Given the description of an element on the screen output the (x, y) to click on. 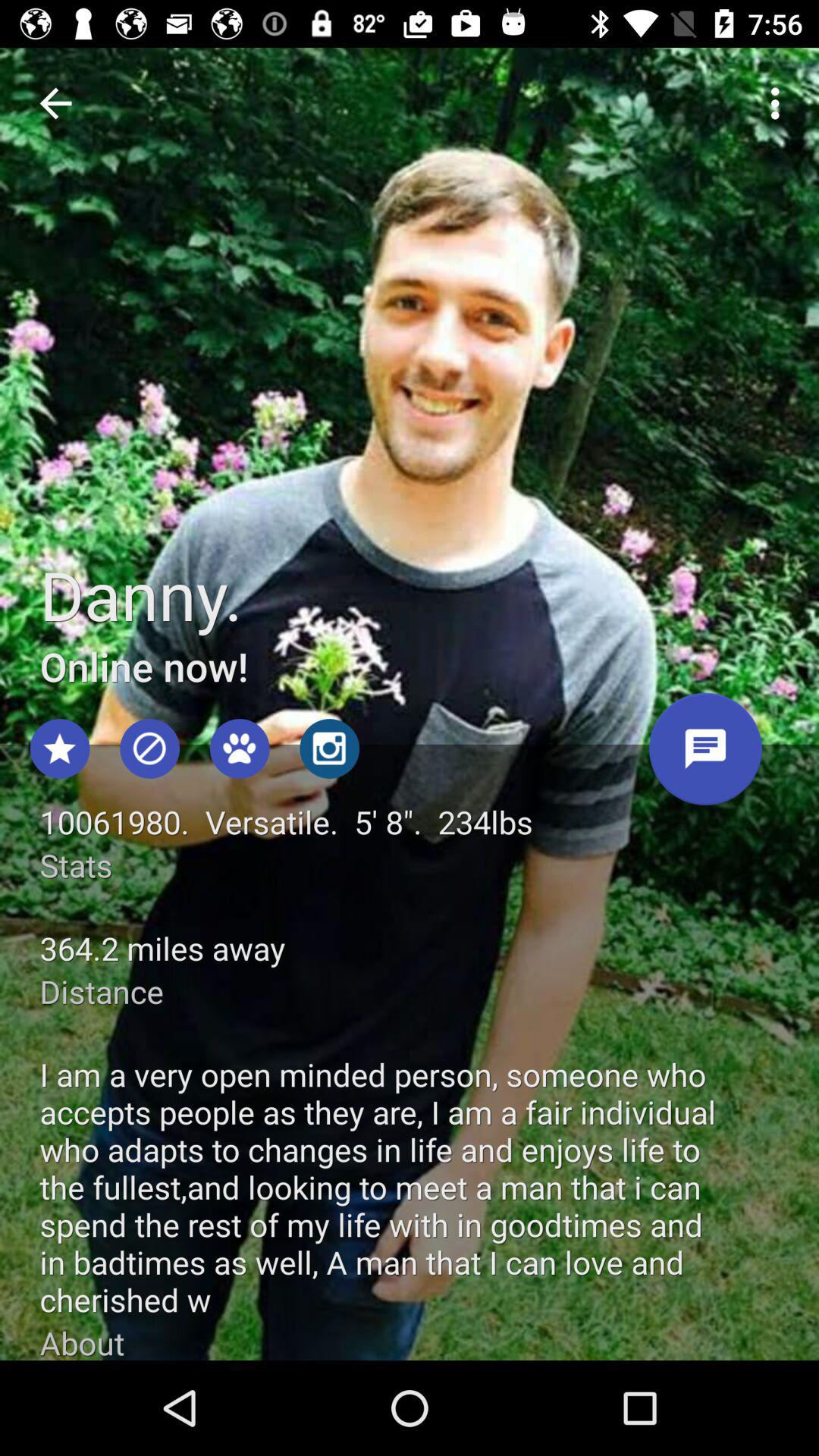
send a message (705, 754)
